Given the description of an element on the screen output the (x, y) to click on. 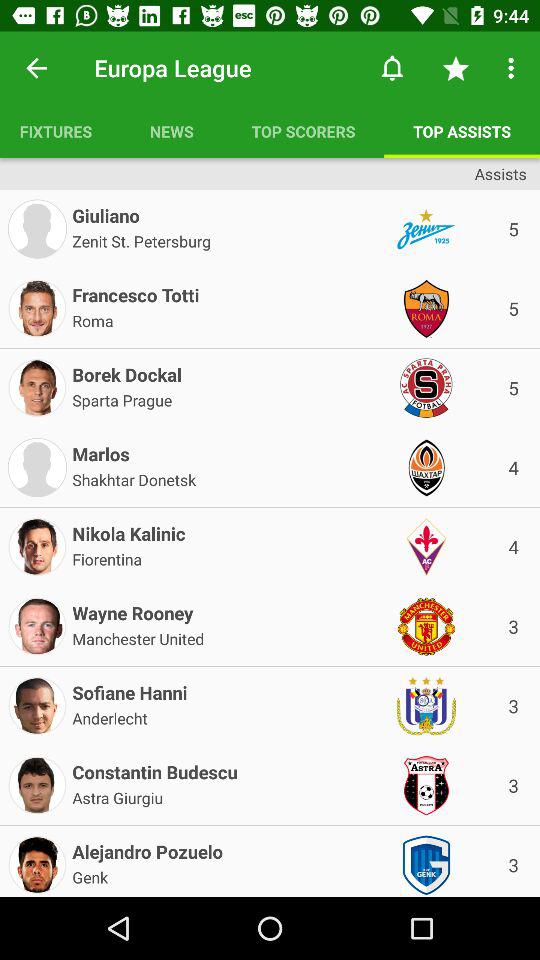
jump to shakhtar donetsk icon (134, 478)
